Given the description of an element on the screen output the (x, y) to click on. 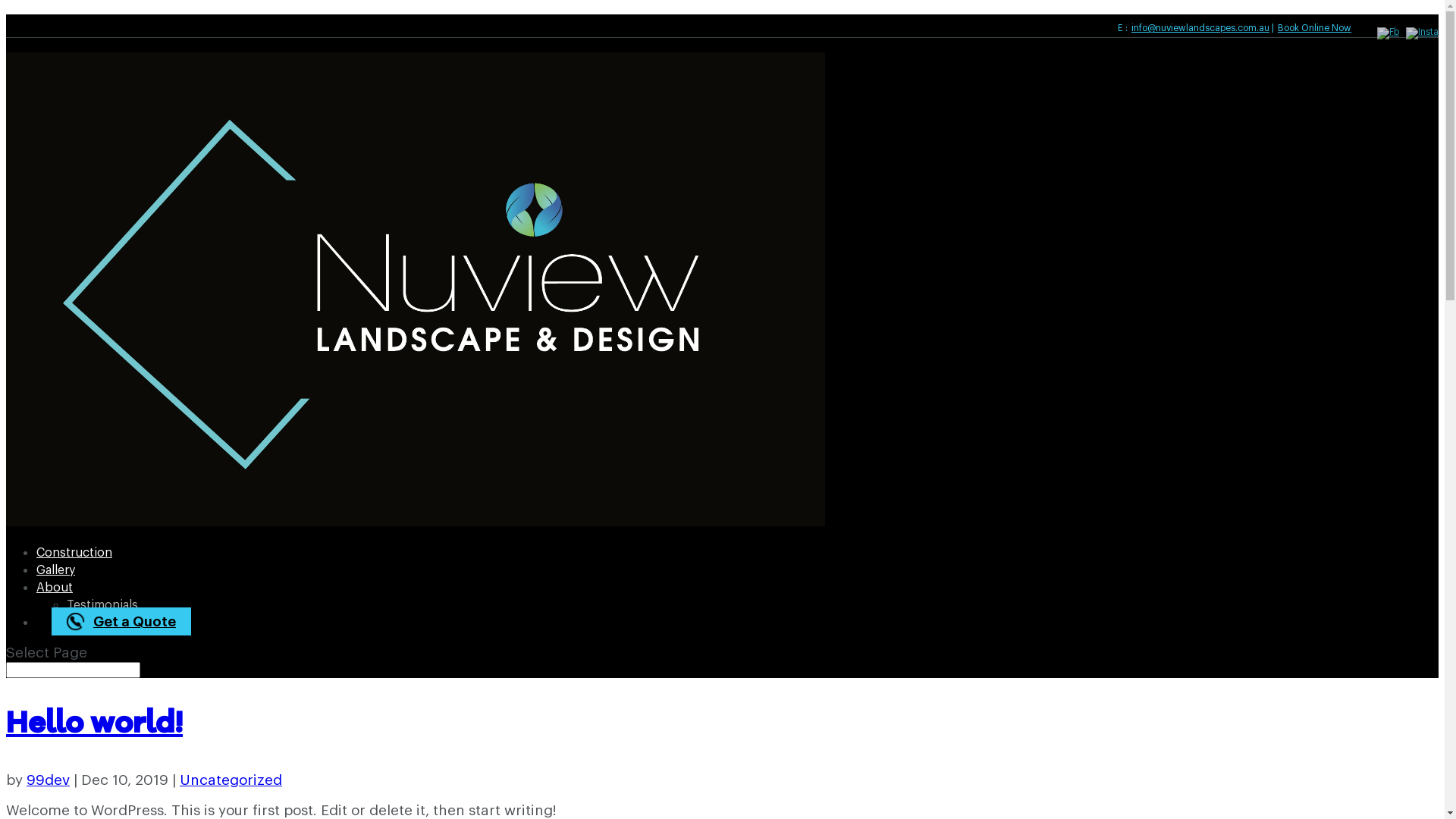
Search for: Element type: hover (73, 669)
Get a Quote Element type: text (121, 621)
Uncategorized Element type: text (230, 779)
Book Online Now Element type: text (1313, 27)
About Element type: text (54, 599)
Hello world! Element type: text (94, 724)
Construction Element type: text (74, 564)
Search Element type: text (34, 9)
info@nuviewlandscapes.com.au Element type: text (1199, 27)
Gallery Element type: text (55, 581)
99dev Element type: text (47, 779)
Testimonials Element type: text (102, 616)
